Given the description of an element on the screen output the (x, y) to click on. 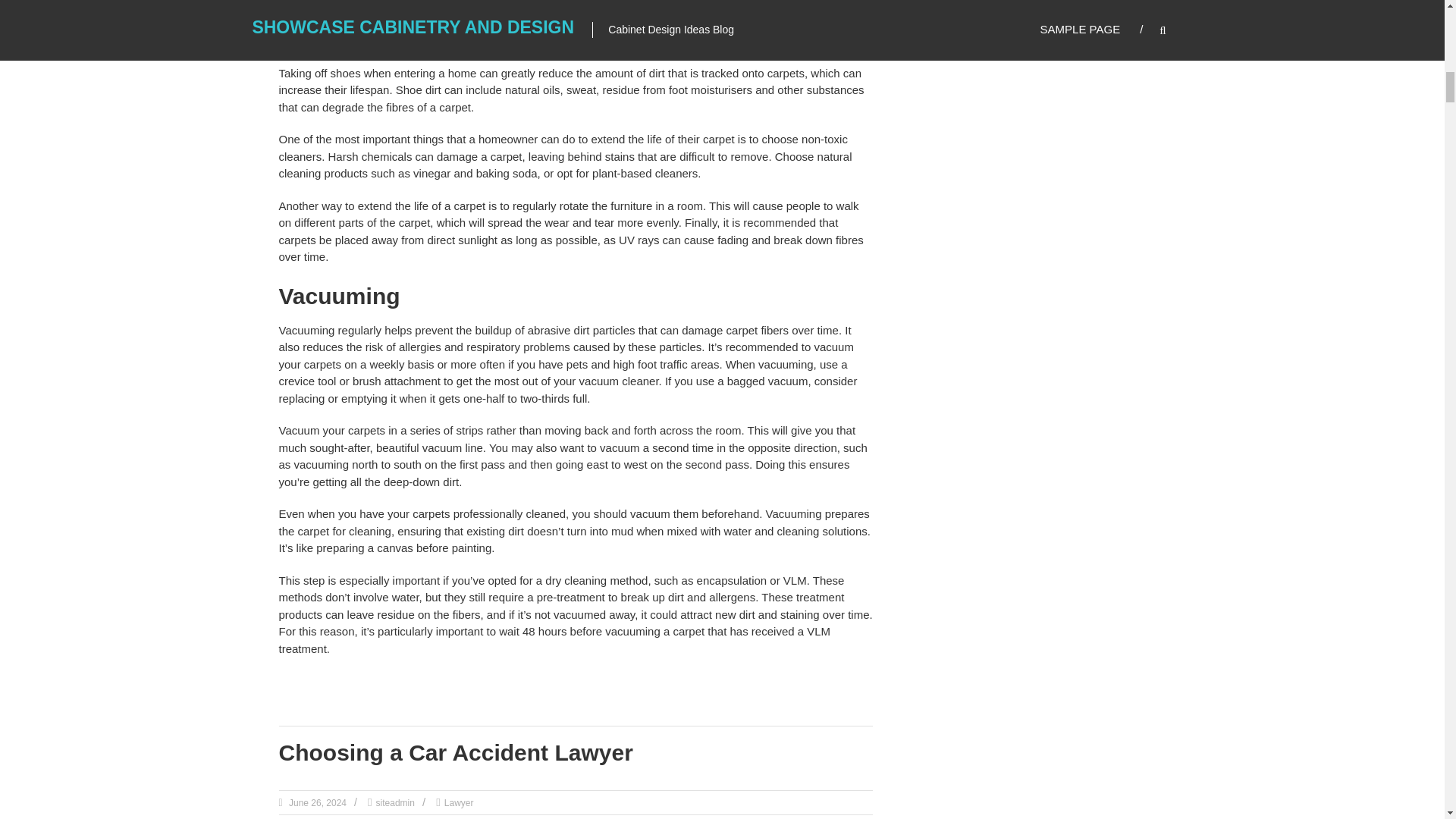
11:18 am (316, 802)
siteadmin (394, 802)
siteadmin (394, 802)
Choosing a Car Accident Lawyer (456, 752)
Lawyer (459, 802)
Choosing a Car Accident Lawyer (456, 752)
June 26, 2024 (316, 802)
